Given the description of an element on the screen output the (x, y) to click on. 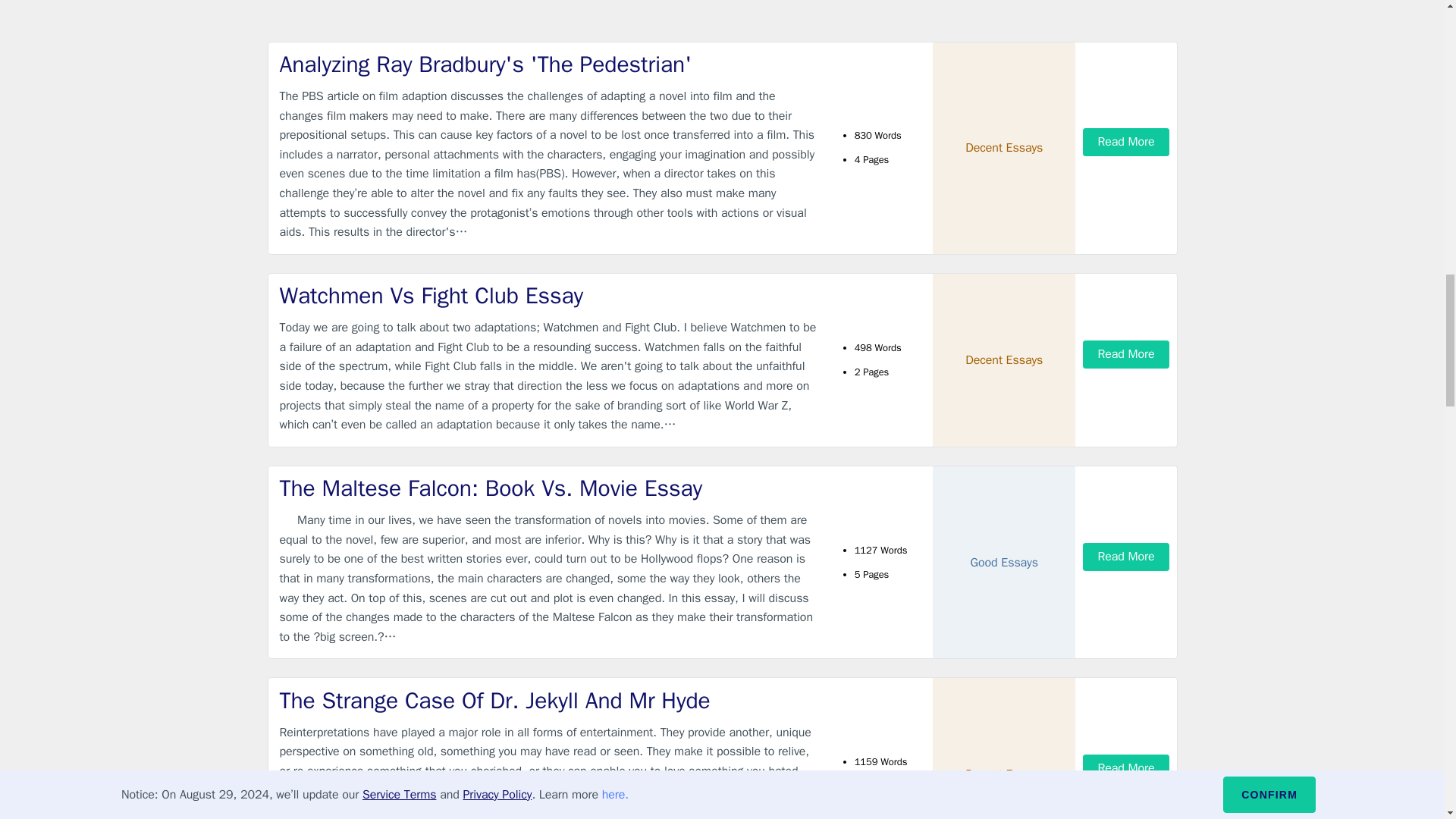
Analyzing Ray Bradbury's 'The Pedestrian' (548, 64)
Read More (1126, 768)
Read More (1126, 354)
Read More (1126, 556)
The Maltese Falcon: Book Vs. Movie Essay (548, 488)
Watchmen Vs Fight Club Essay (548, 296)
The Strange Case Of Dr. Jekyll And Mr Hyde (548, 700)
Read More (1126, 141)
